Given the description of an element on the screen output the (x, y) to click on. 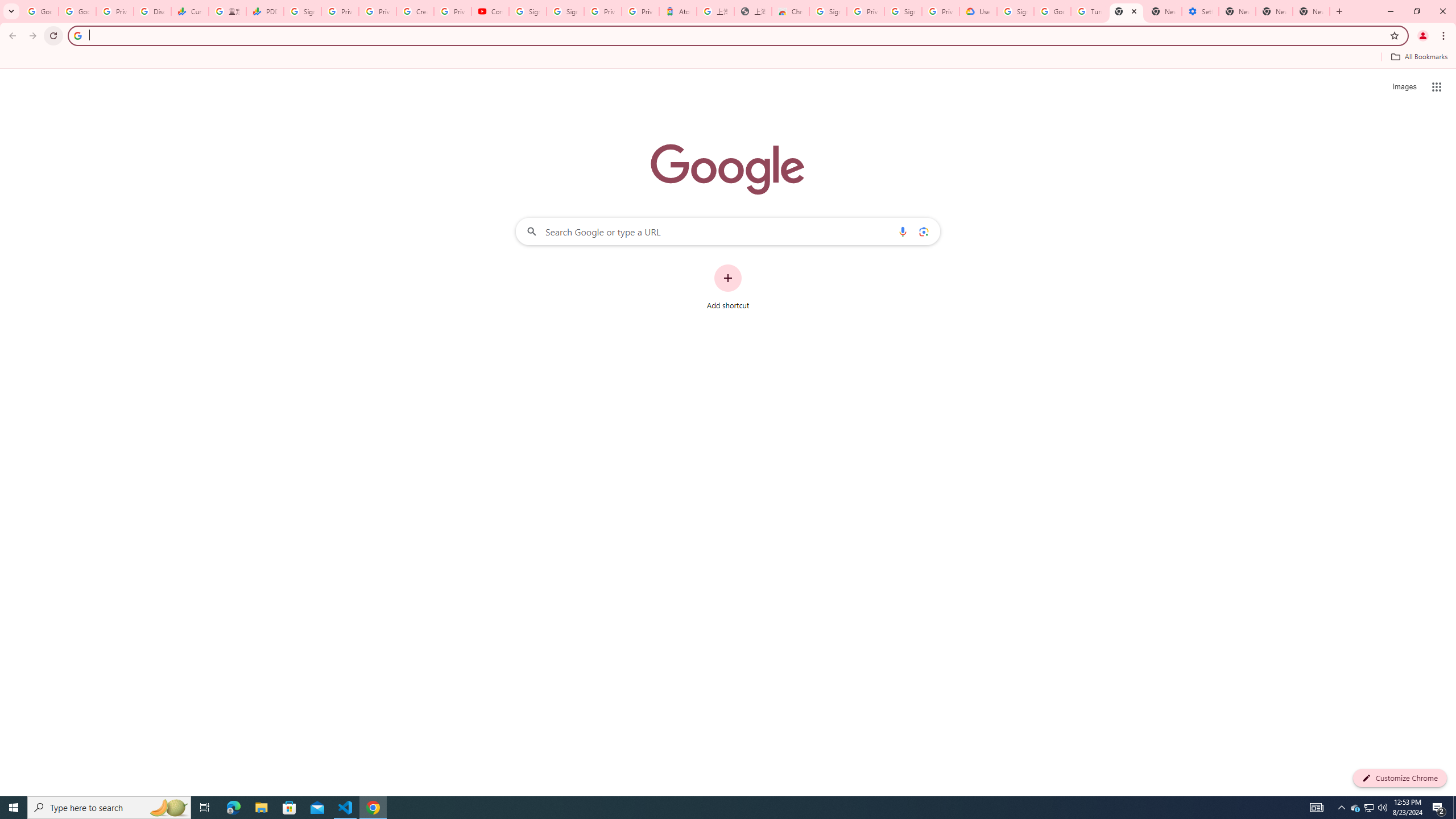
Search for Images  (1403, 87)
Sign in - Google Accounts (827, 11)
Sign in - Google Accounts (1015, 11)
Sign in - Google Accounts (565, 11)
Search icon (77, 35)
Chrome Web Store - Color themes by Chrome (790, 11)
